Given the description of an element on the screen output the (x, y) to click on. 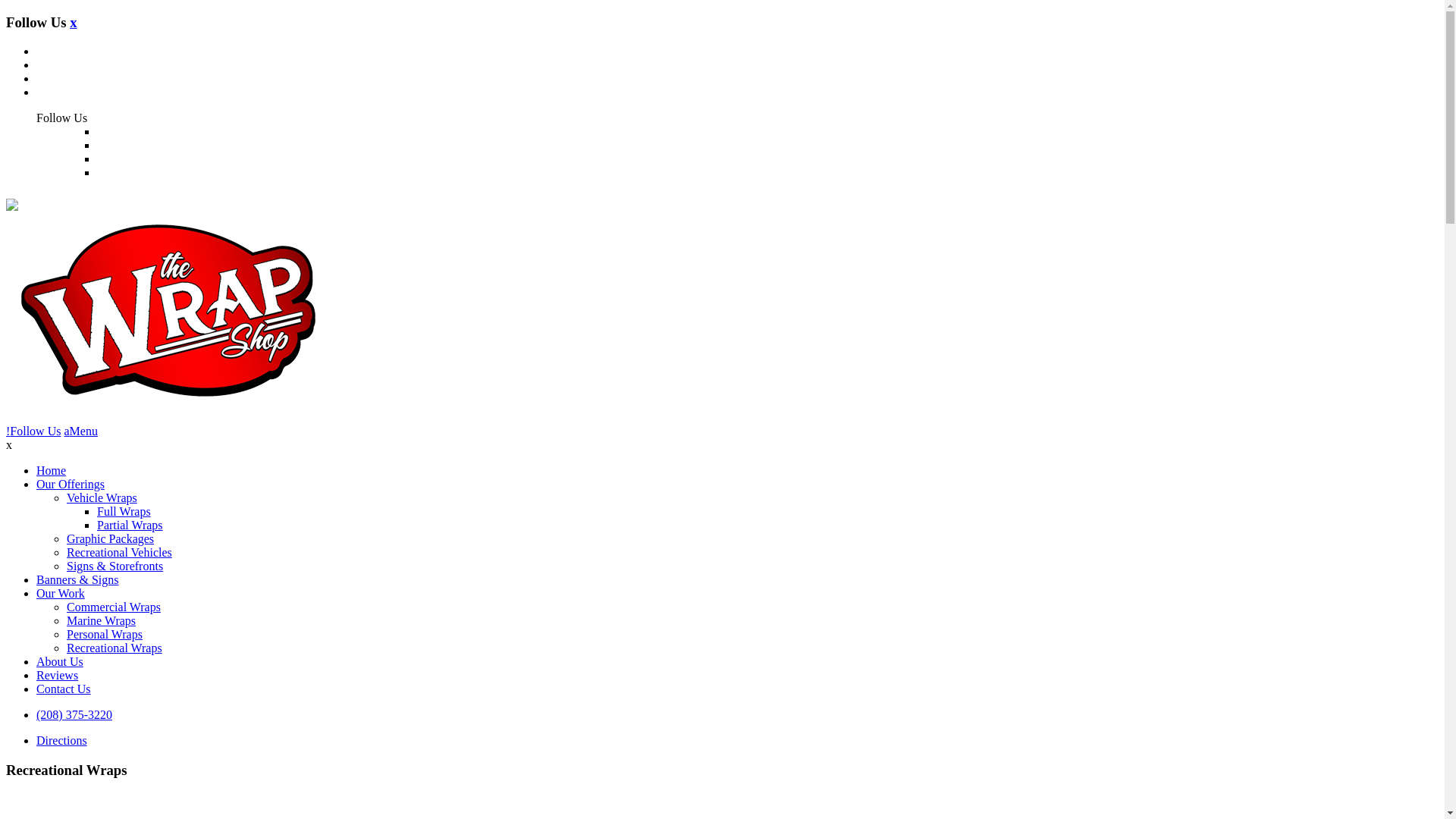
Directions Element type: text (61, 740)
x Element type: text (72, 22)
About Us Element type: text (59, 661)
Recreational Vehicles Element type: text (119, 552)
Banners & Signs Element type: text (77, 579)
!Follow Us Element type: text (33, 430)
(208) 375-3220 Element type: text (74, 714)
Contact Us Element type: text (63, 688)
Reviews Element type: text (57, 674)
Full Wraps Element type: text (123, 511)
Recreational Wraps Element type: text (114, 647)
The Wrap Shop Element type: hover (168, 398)
Vehicle Wraps Element type: text (101, 497)
Signs & Storefronts Element type: text (114, 565)
Our Work Element type: text (60, 592)
Home Element type: text (50, 470)
Graphic Packages Element type: text (109, 538)
Our Offerings Element type: text (70, 483)
Partial Wraps Element type: text (130, 524)
Marine Wraps Element type: text (100, 620)
The Wrap Shop Element type: hover (12, 204)
aMenu Element type: text (80, 430)
Personal Wraps Element type: text (104, 633)
Commercial Wraps Element type: text (113, 606)
